Given the description of an element on the screen output the (x, y) to click on. 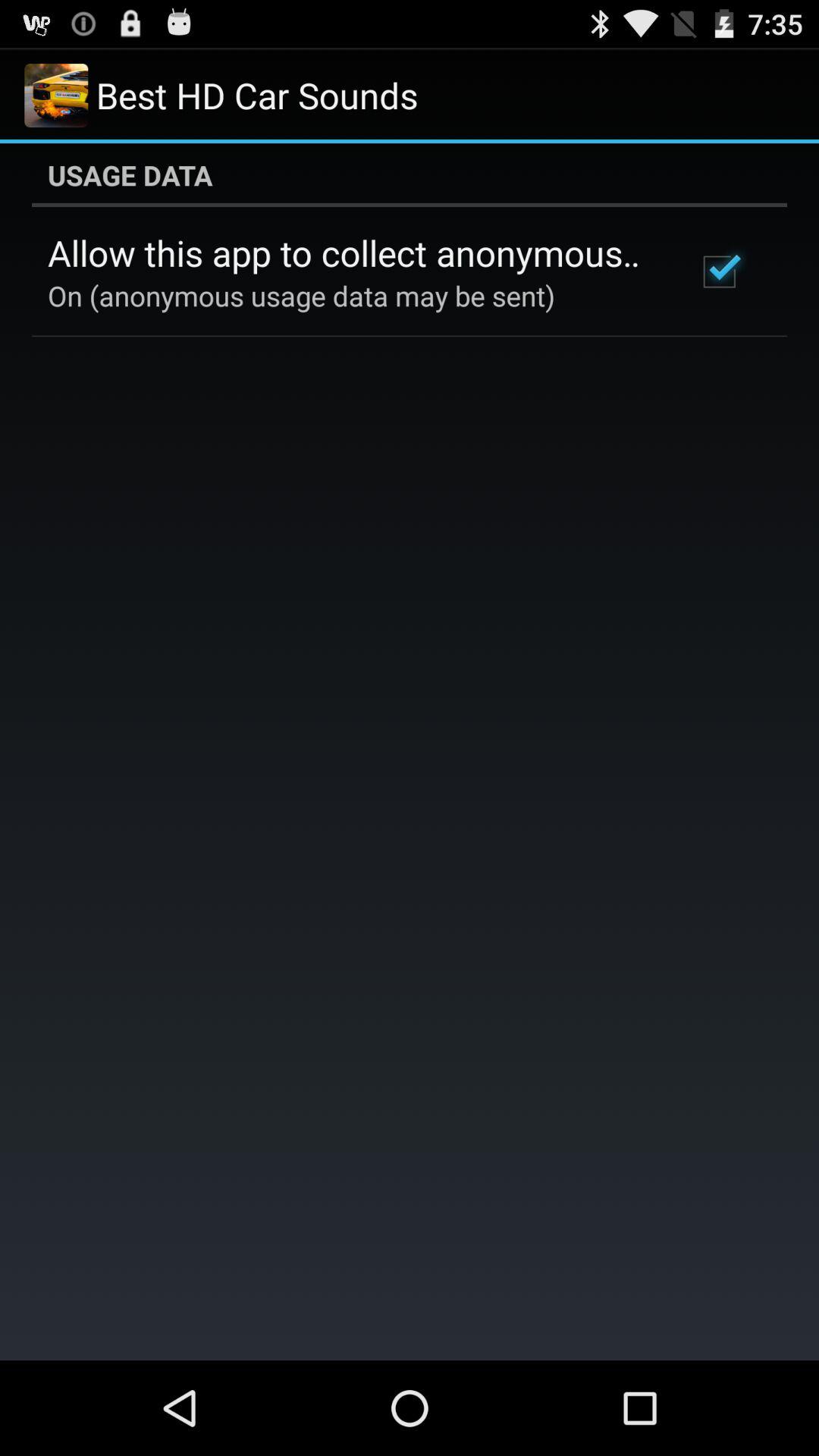
click the item below usage data (719, 271)
